Given the description of an element on the screen output the (x, y) to click on. 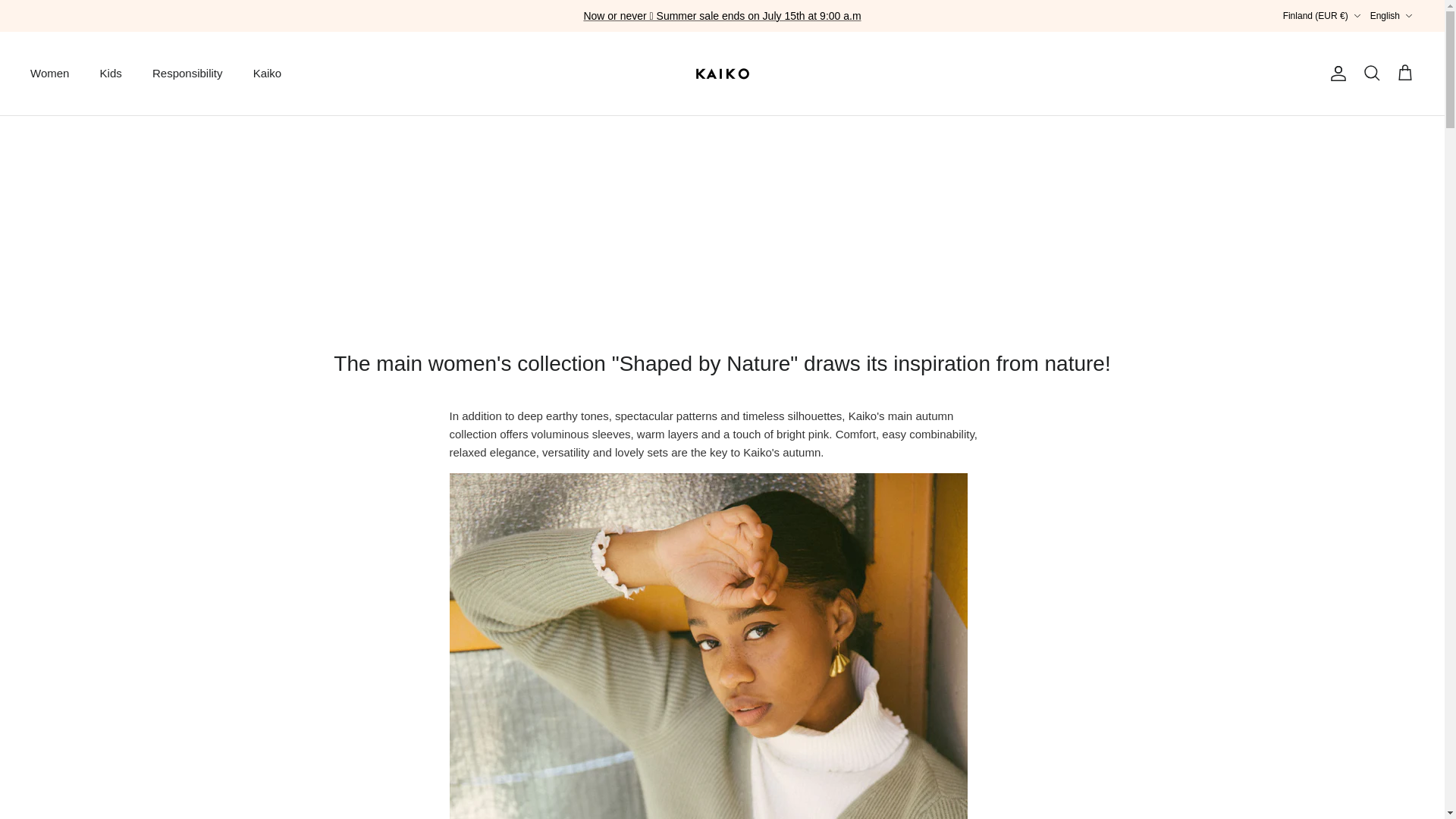
KAIKO (722, 72)
Down (1408, 15)
Final Sale (721, 15)
Down (1357, 15)
